Given the description of an element on the screen output the (x, y) to click on. 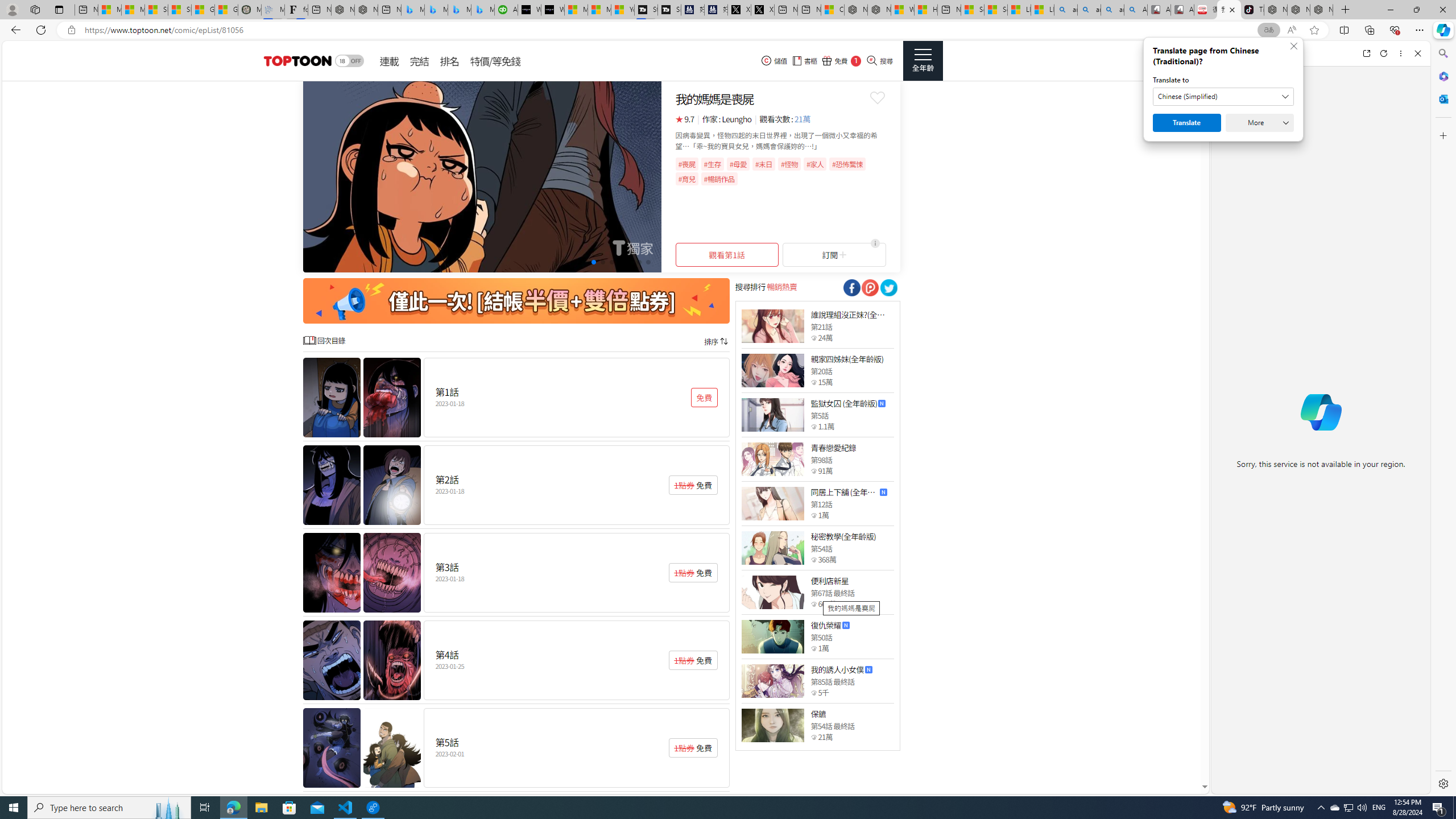
Class: socialShare (887, 287)
Manatee Mortality Statistics | FWC (249, 9)
Outlook (1442, 98)
Settings (1442, 783)
Class: thumb_img (772, 725)
